Given the description of an element on the screen output the (x, y) to click on. 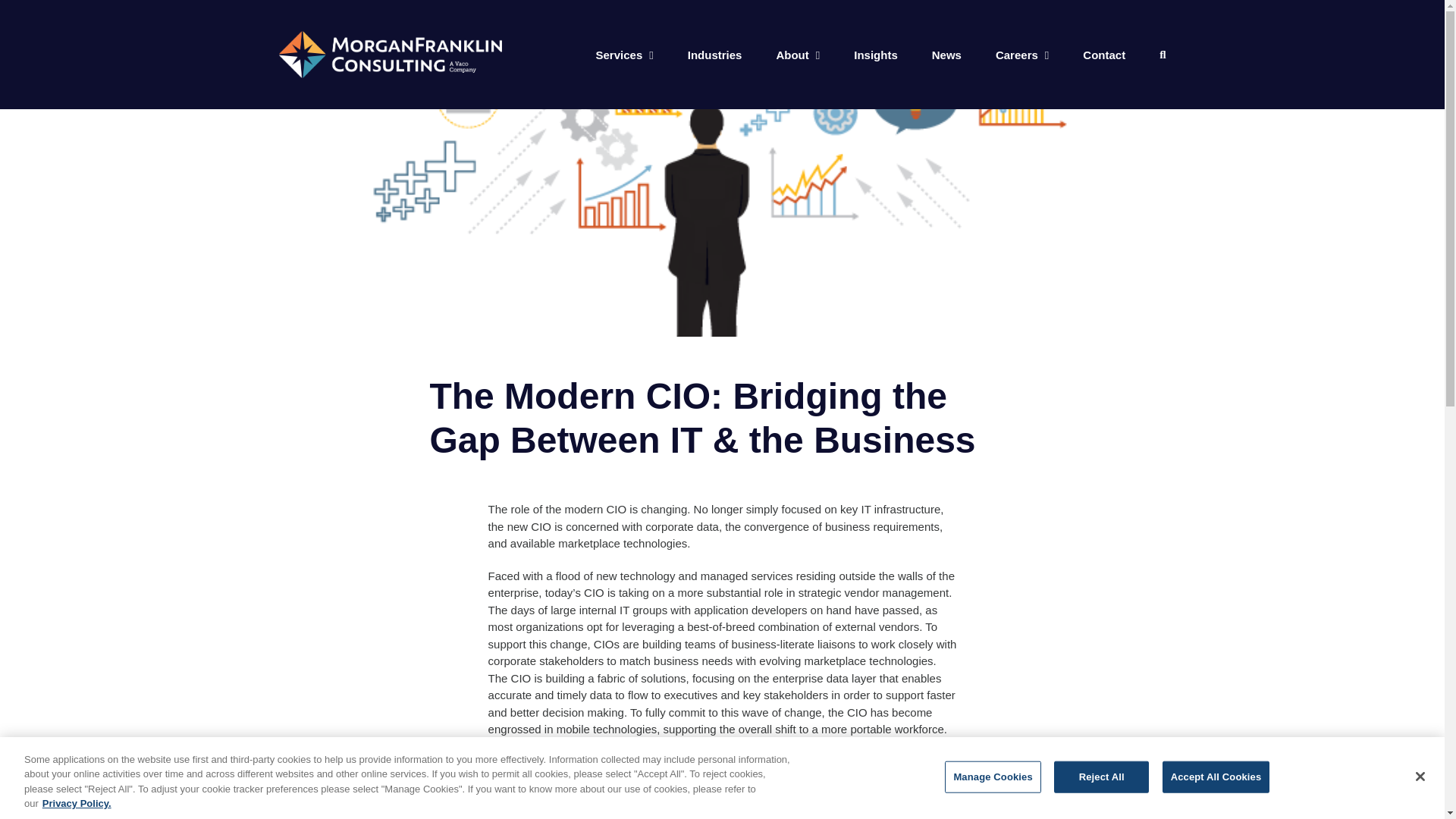
Services (624, 54)
Search (1162, 54)
